Given the description of an element on the screen output the (x, y) to click on. 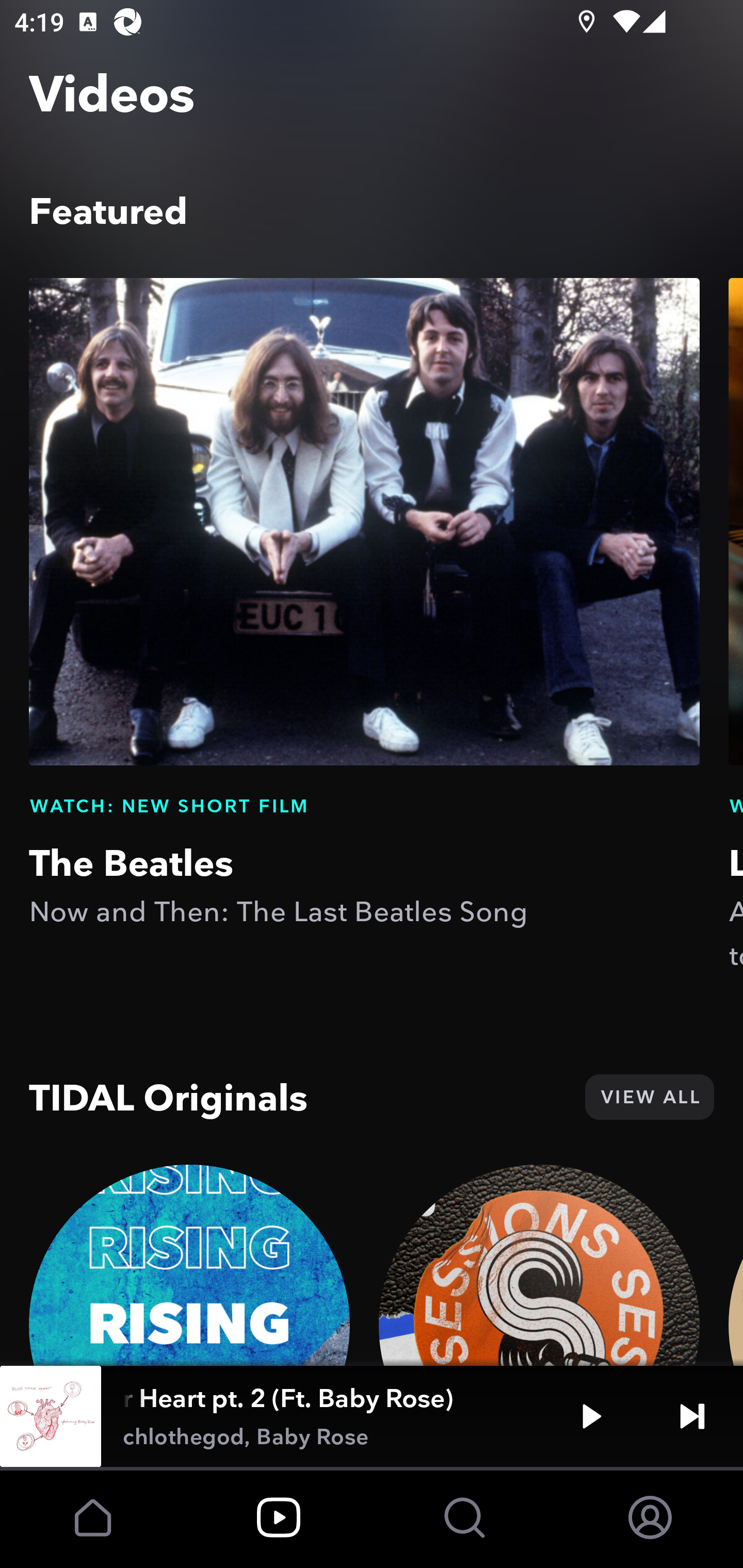
VIEW ALL (649, 1096)
Play (590, 1416)
